Given the description of an element on the screen output the (x, y) to click on. 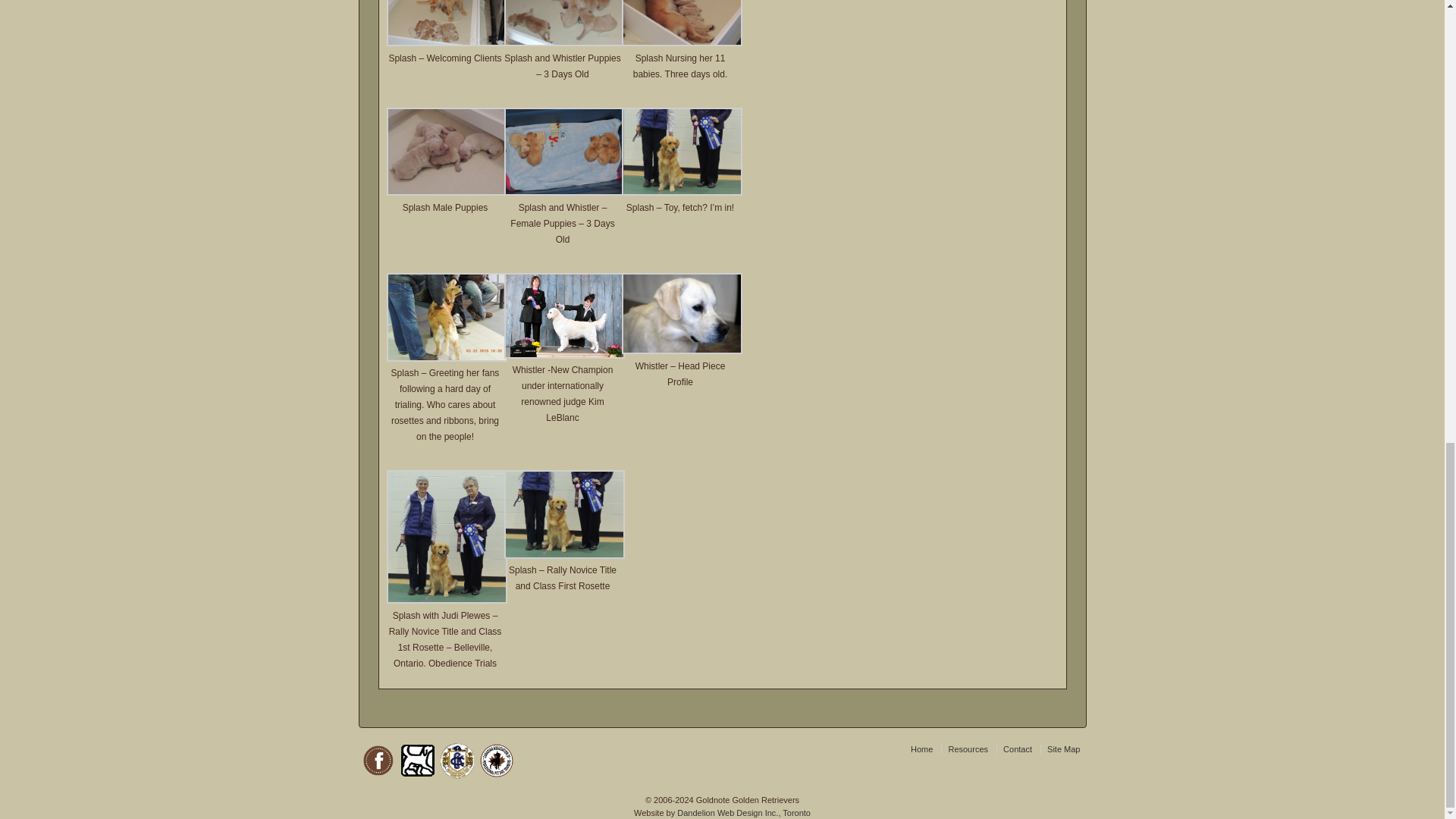
Home (925, 748)
Resources (967, 748)
Site Map (1063, 748)
Contact (1016, 748)
